Given the description of an element on the screen output the (x, y) to click on. 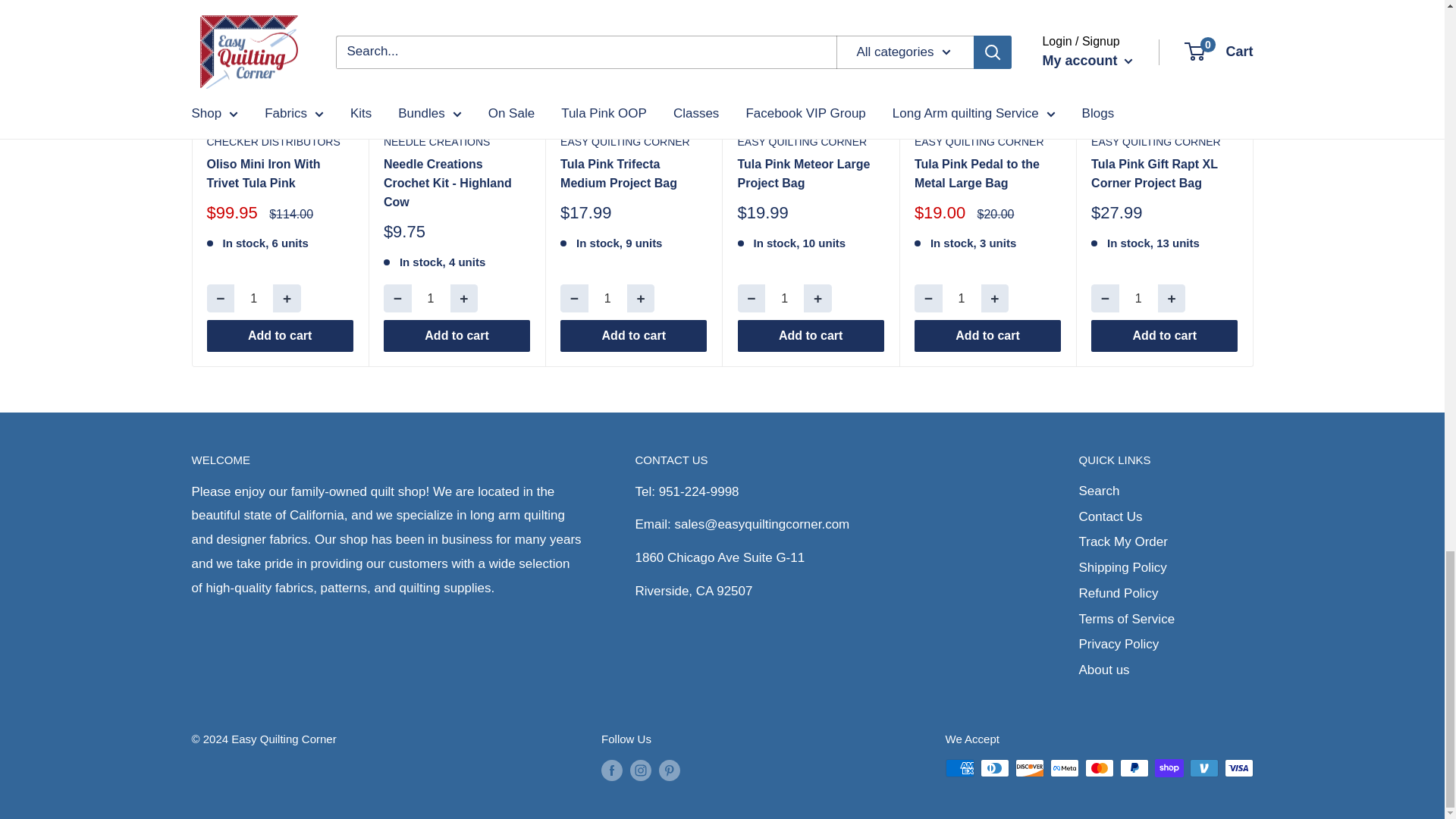
Decrease Quantity (220, 298)
1 (784, 298)
1 (607, 298)
Decrease Quantity (750, 298)
Decrease Quantity (1104, 298)
Increase Quantity (817, 298)
Decrease Quantity (928, 298)
1 (253, 298)
Decrease Quantity (574, 298)
Decrease Quantity (398, 298)
